Given the description of an element on the screen output the (x, y) to click on. 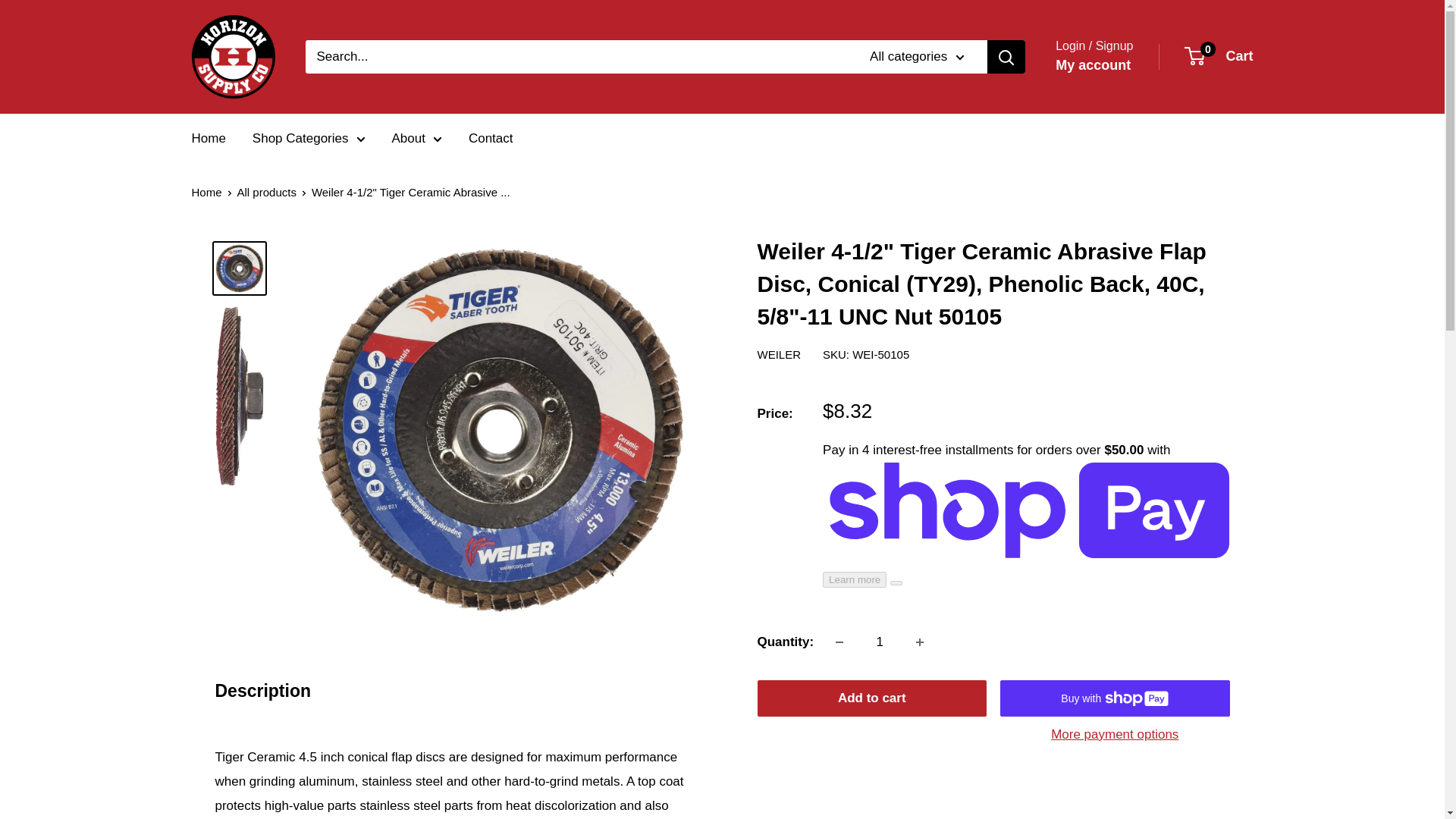
Increase quantity by 1 (920, 642)
1 (880, 642)
Decrease quantity by 1 (840, 642)
